Given the description of an element on the screen output the (x, y) to click on. 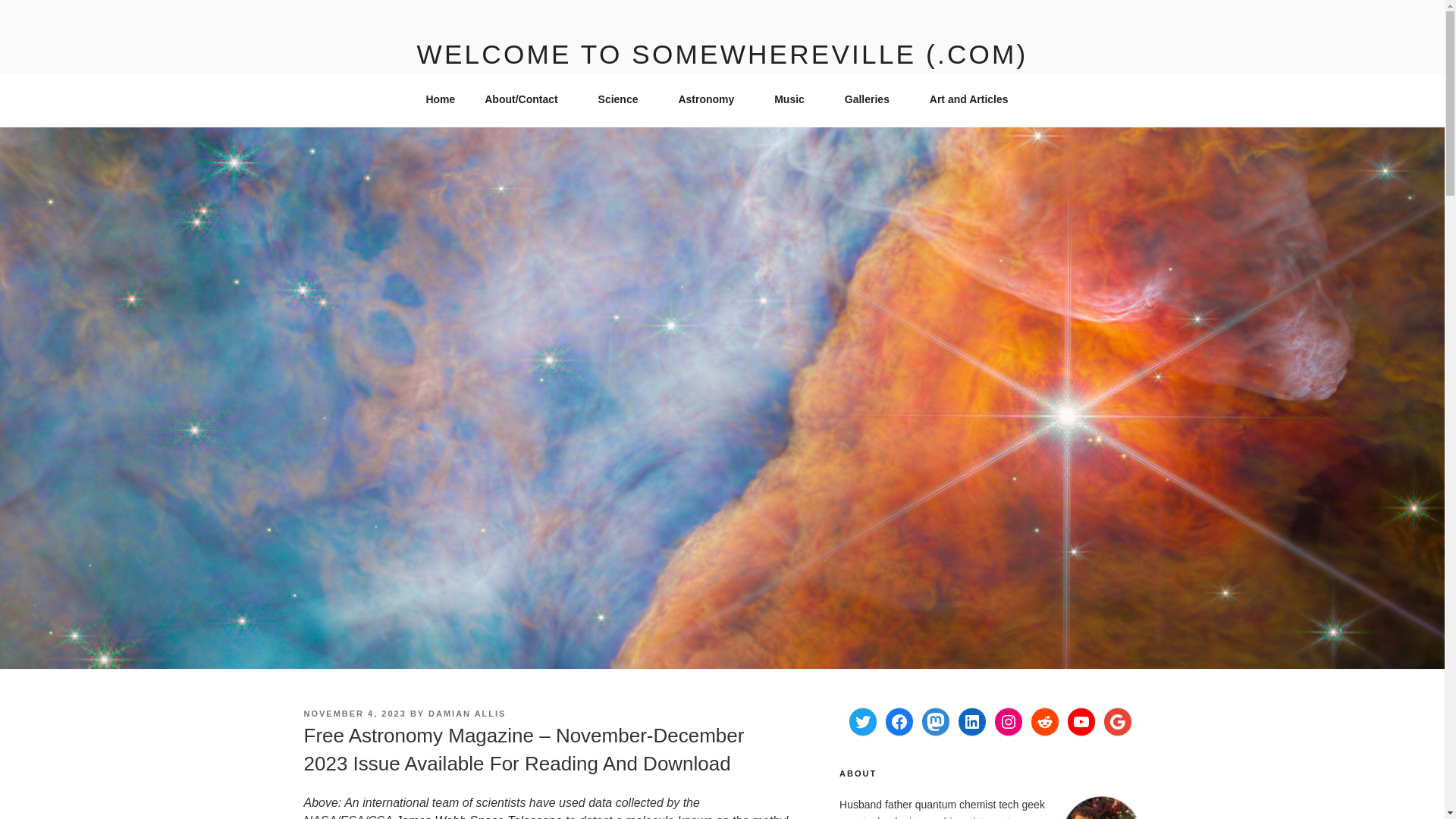
Home (440, 99)
Science (623, 99)
Music (794, 99)
Astronomy (711, 99)
